Given the description of an element on the screen output the (x, y) to click on. 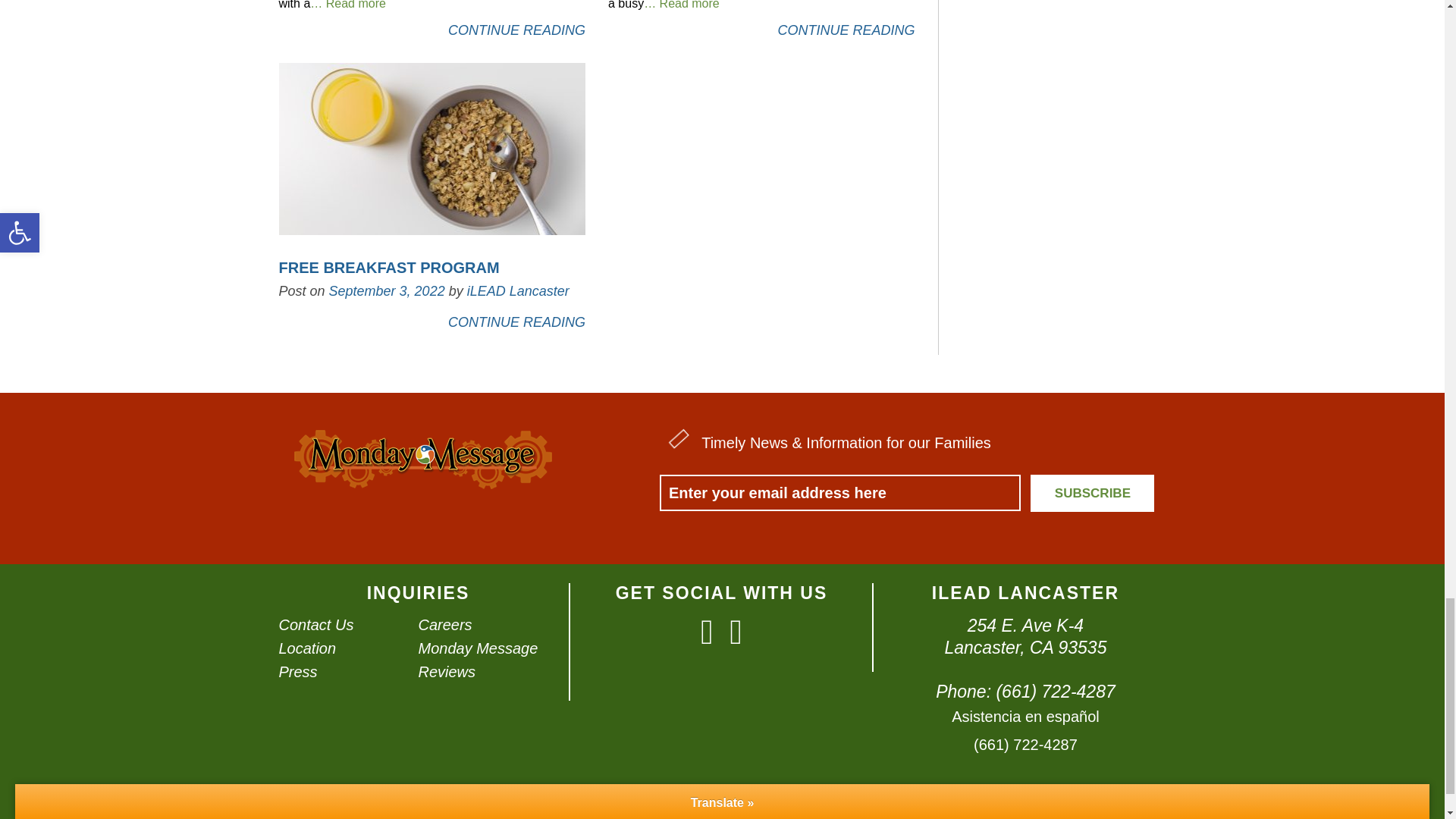
Subscribe (1092, 493)
